Given the description of an element on the screen output the (x, y) to click on. 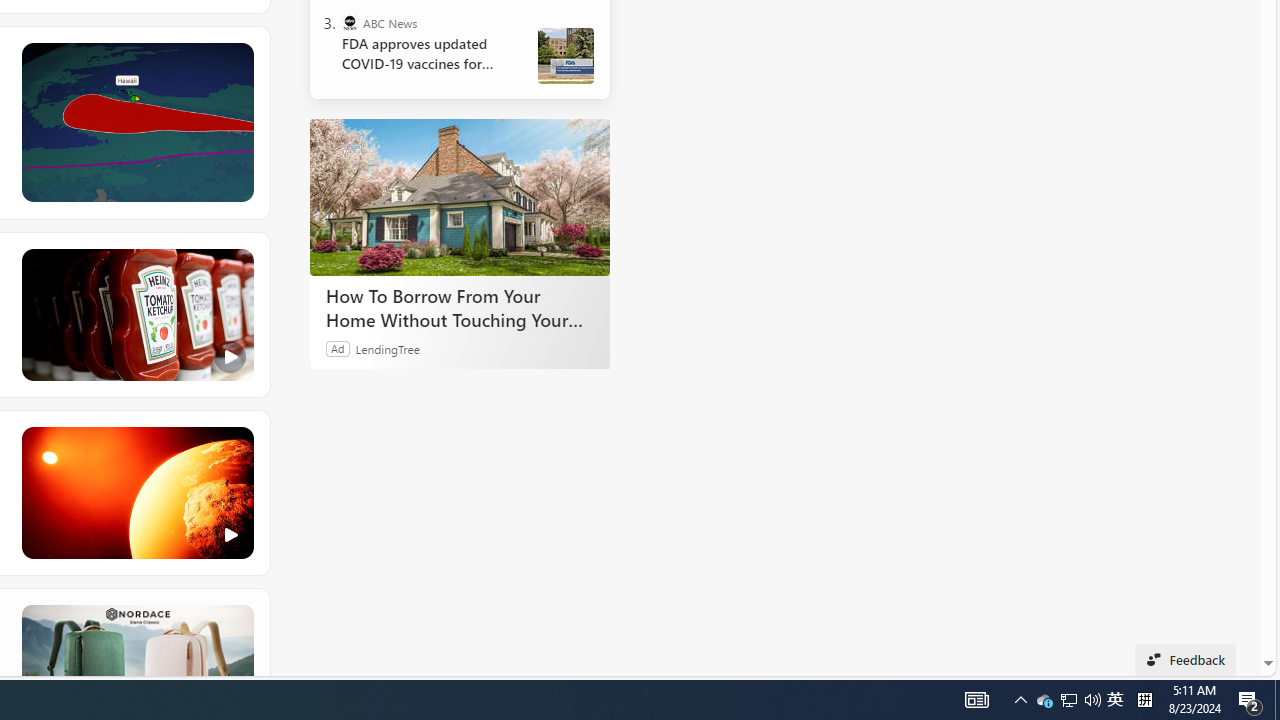
Class: hero-image (136, 492)
ABC News (349, 22)
